Given the description of an element on the screen output the (x, y) to click on. 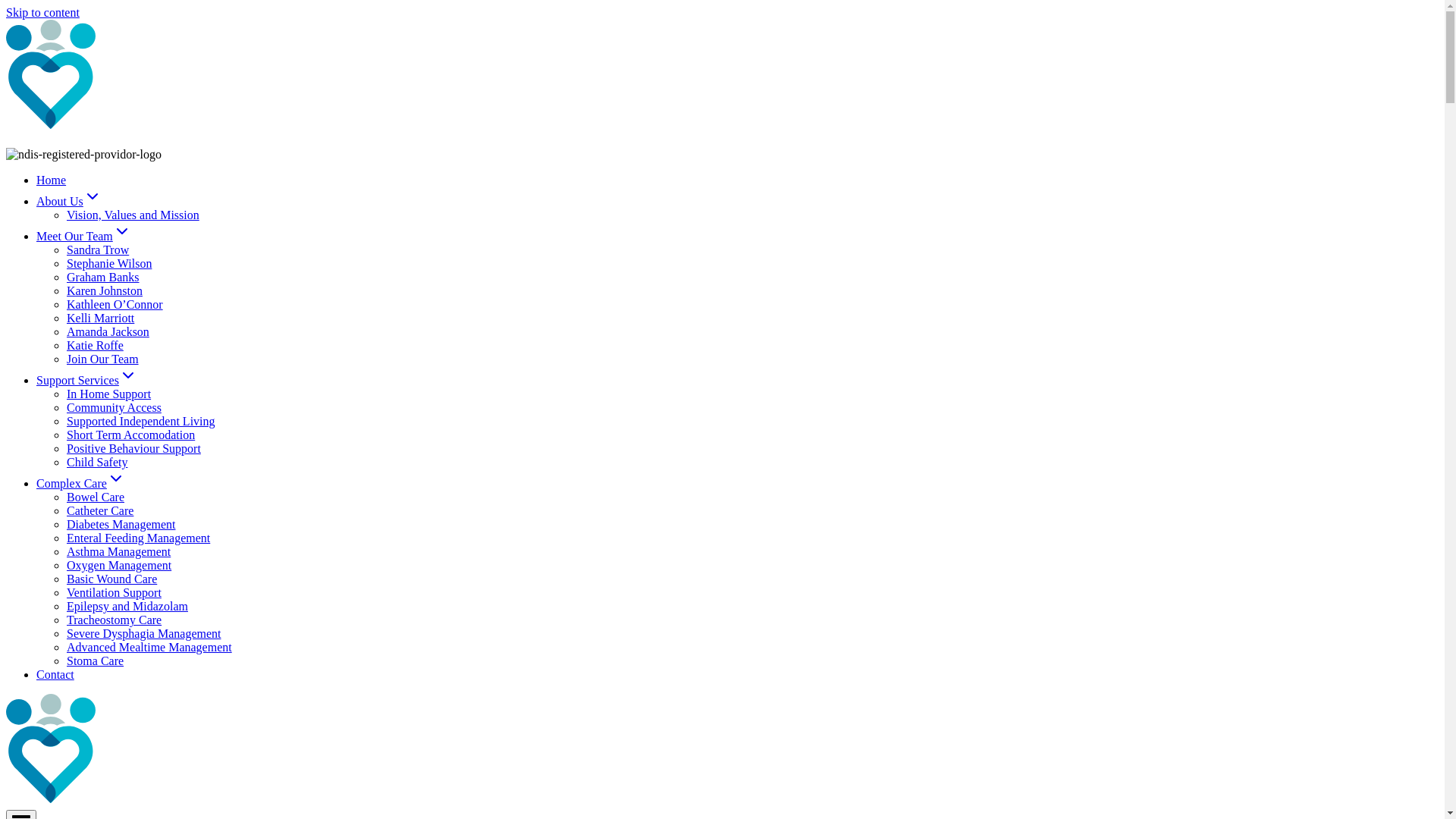
Oxygen Management Element type: text (118, 564)
Enteral Feeding Management Element type: text (138, 537)
Stephanie Wilson Element type: text (108, 263)
Child Safety Element type: text (96, 461)
Skip to content Element type: text (42, 12)
Community Access Element type: text (113, 407)
Inclusive Support Service logo - white text Element type: hover (183, 749)
Graham Banks Element type: text (102, 276)
Ventilation Support Element type: text (113, 592)
Catheter Care Element type: text (99, 510)
Karen Johnston Element type: text (104, 290)
Sandra Trow Element type: text (97, 249)
Short Term Accomodation Element type: text (130, 434)
Inclusive Support Service logo - white text Element type: hover (183, 75)
Support ServicesExpand Element type: text (86, 379)
Diabetes Management Element type: text (120, 523)
Contact Element type: text (55, 674)
Positive Behaviour Support Element type: text (133, 448)
Meet Our TeamExpand Element type: text (83, 235)
Home Element type: text (50, 179)
Katie Roffe Element type: text (94, 344)
Kelli Marriott Element type: text (100, 317)
Stoma Care Element type: text (94, 660)
Basic Wound Care Element type: text (111, 578)
Join Our Team Element type: text (102, 358)
Complex CareExpand Element type: text (80, 482)
Severe Dysphagia Management Element type: text (143, 633)
Bowel Care Element type: text (95, 496)
Supported Independent Living Element type: text (140, 420)
Epilepsy and Midazolam Element type: text (127, 605)
Amanda Jackson Element type: text (107, 331)
About UsExpand Element type: text (68, 200)
Advanced Mealtime Management Element type: text (149, 646)
Vision, Values and Mission Element type: text (132, 214)
Tracheostomy Care Element type: text (113, 619)
In Home Support Element type: text (108, 393)
Asthma Management Element type: text (118, 551)
